Given the description of an element on the screen output the (x, y) to click on. 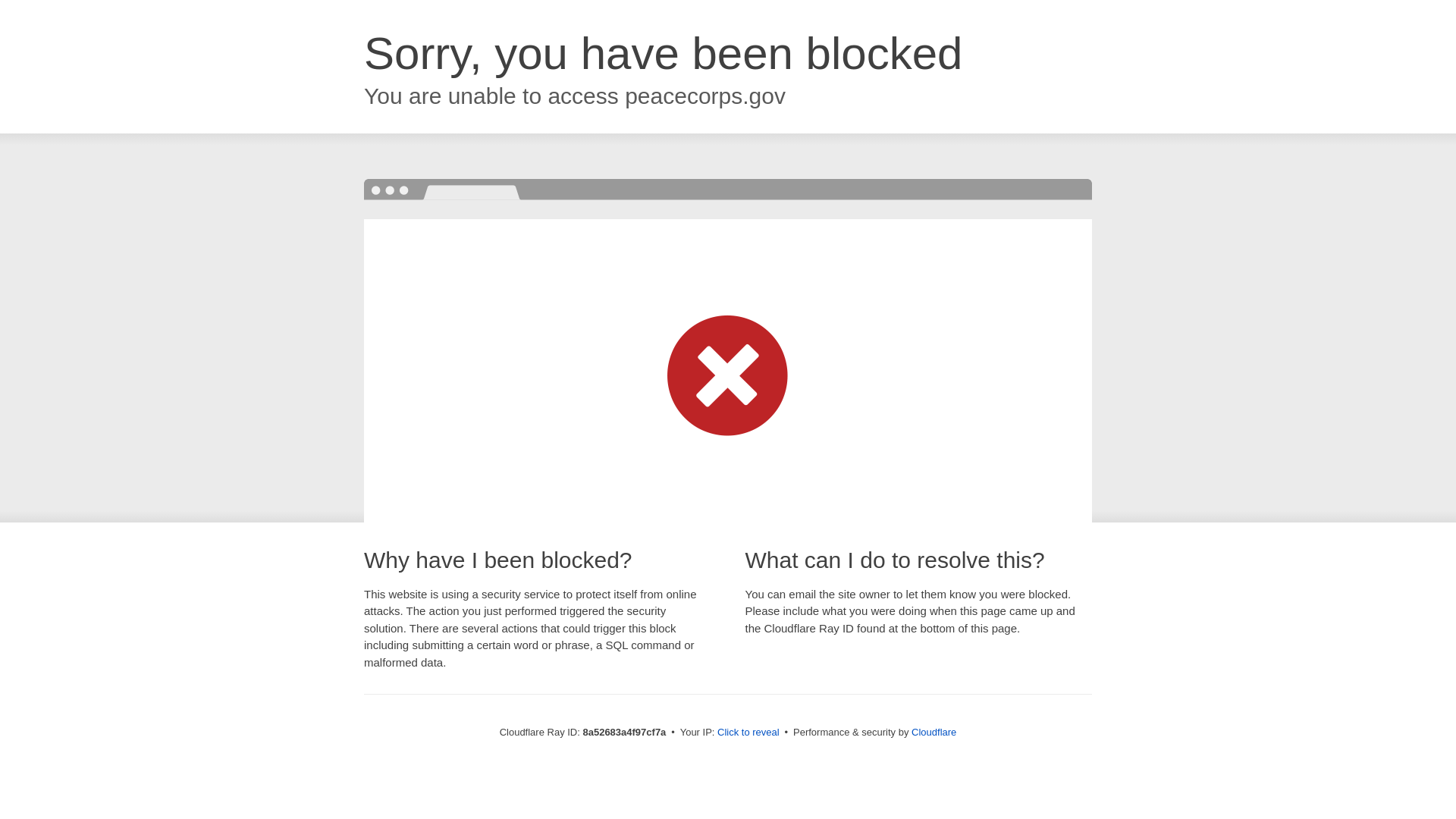
Cloudflare (933, 731)
Click to reveal (747, 732)
